Given the description of an element on the screen output the (x, y) to click on. 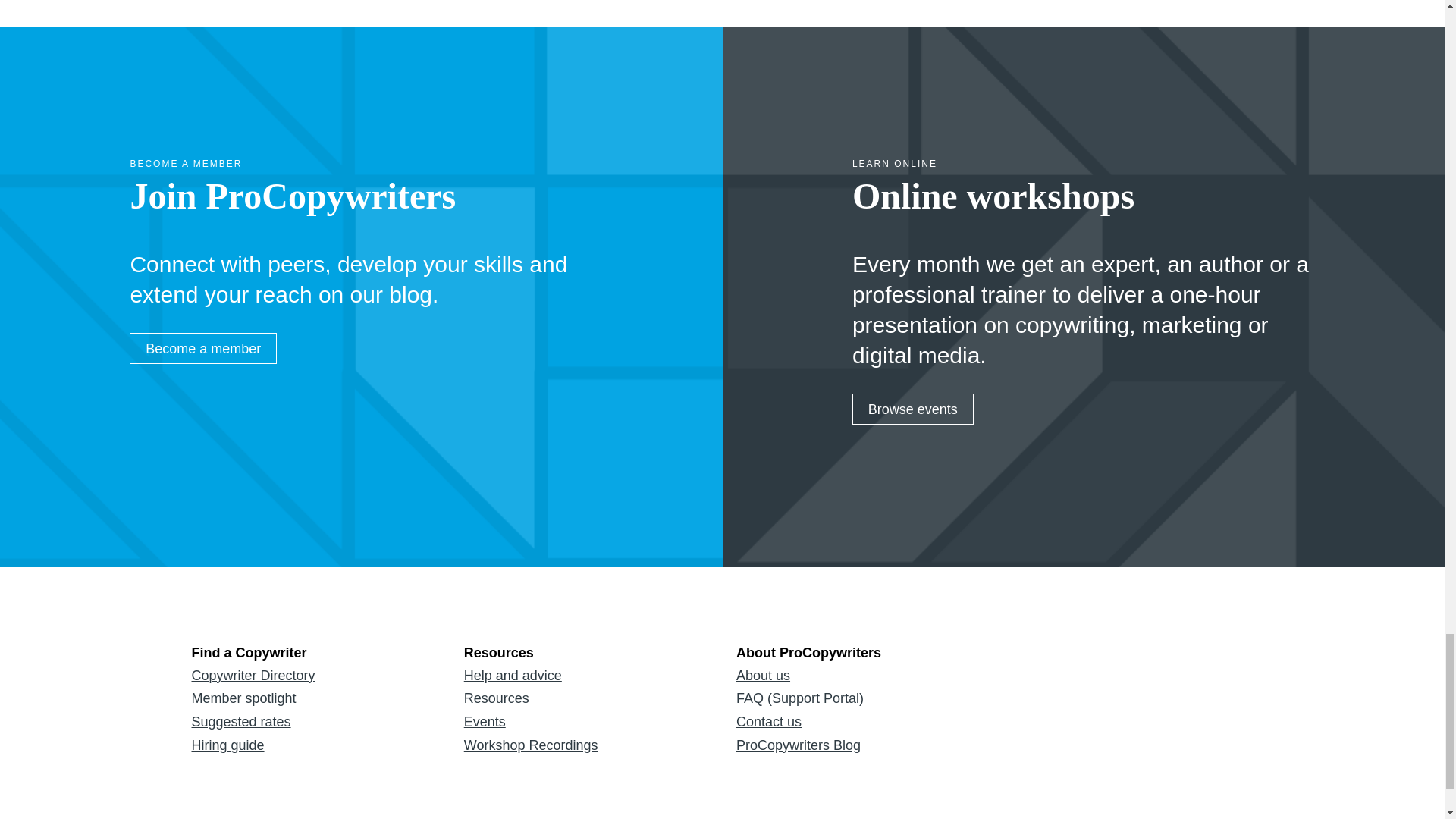
ProCopywriters Blog (857, 745)
Resources (585, 698)
Events (585, 721)
Become a member (202, 348)
Contact us (857, 721)
Help and advice (585, 675)
Workshop Recordings (585, 745)
Suggested rates (312, 721)
Copywriter Directory (312, 675)
About us (857, 675)
Browse events (912, 409)
Member spotlight (312, 698)
Hiring guide (312, 745)
